Given the description of an element on the screen output the (x, y) to click on. 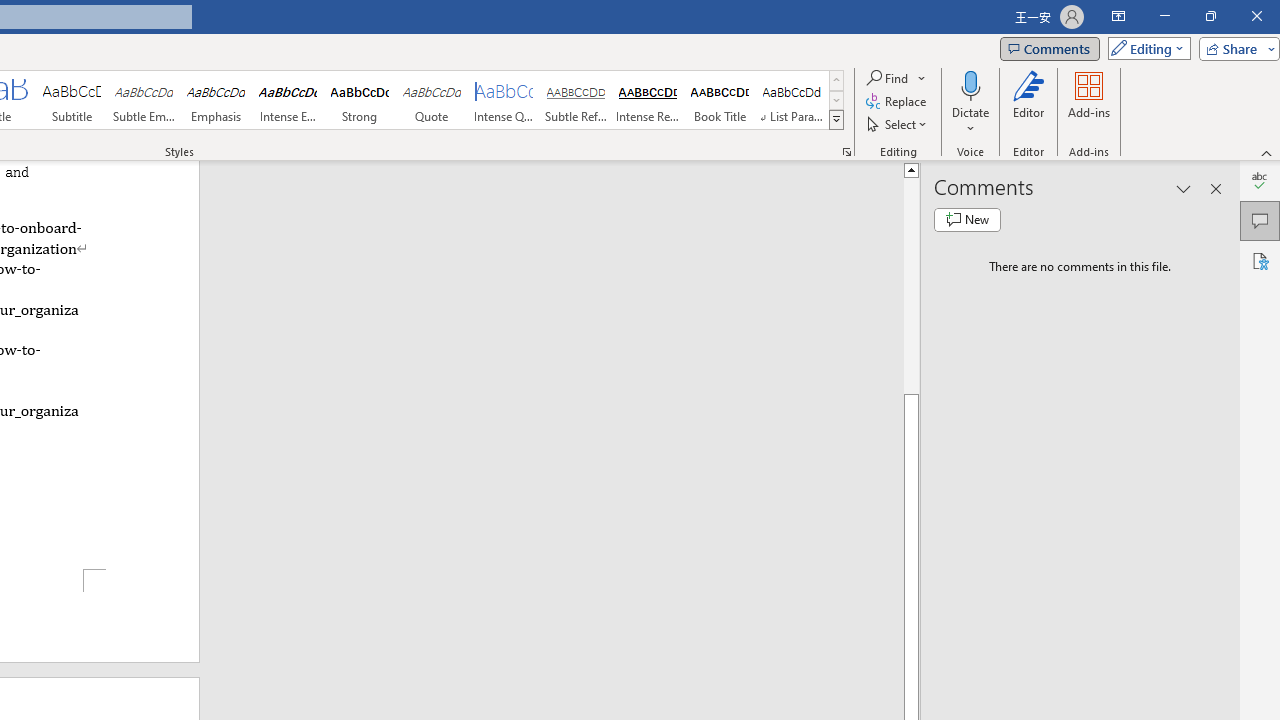
Dictate (970, 84)
Dictate (970, 102)
Close pane (1215, 188)
Intense Reference (647, 100)
Editor (1260, 180)
Comments (1260, 220)
More Options (970, 121)
Ribbon Display Options (1118, 16)
Row Down (836, 100)
Task Pane Options (1183, 188)
Line up (911, 169)
Restore Down (1210, 16)
